Given the description of an element on the screen output the (x, y) to click on. 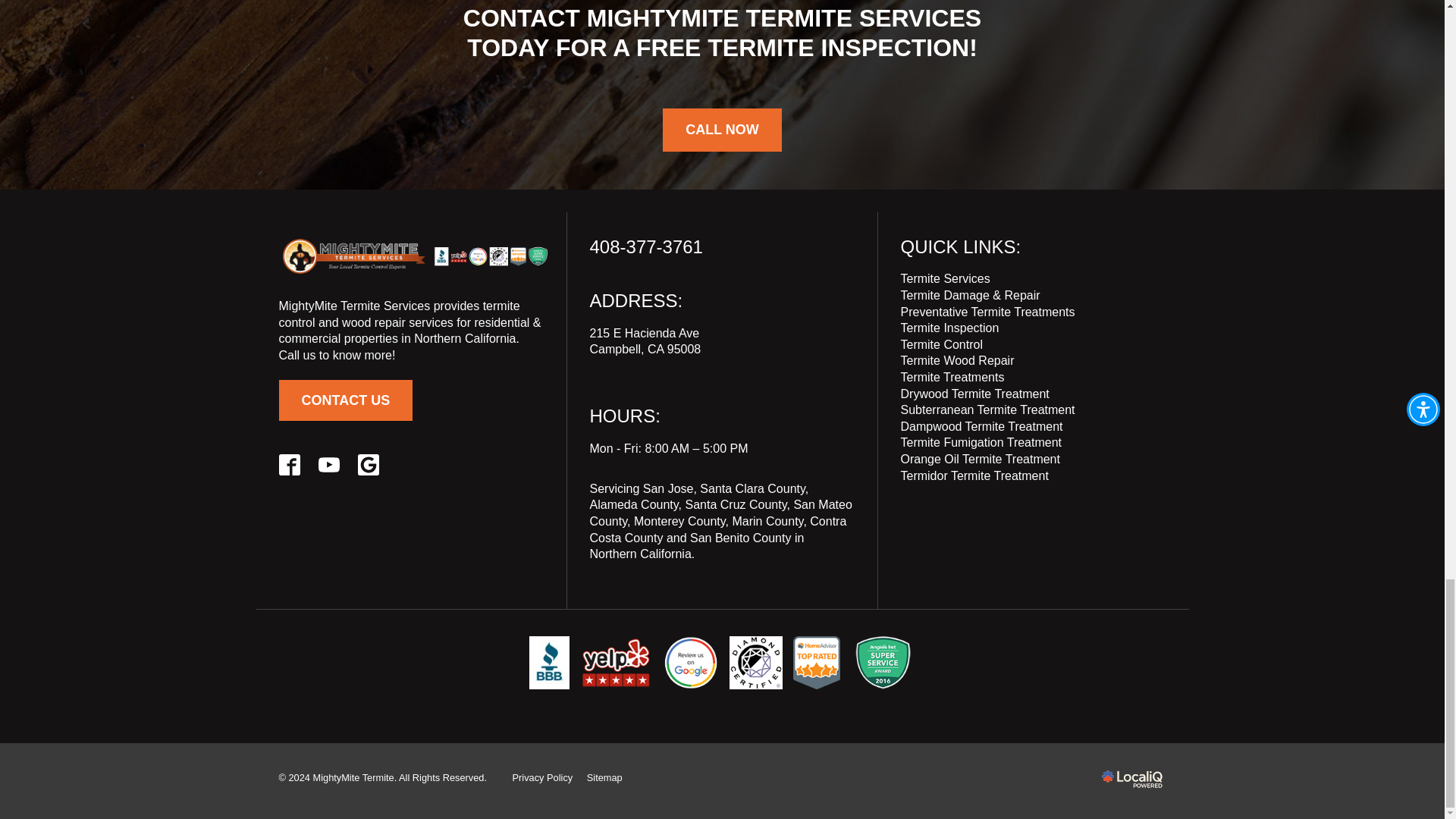
facebook (289, 464)
MightyMite Termite (414, 256)
youtube (328, 464)
google (368, 464)
